Given the description of an element on the screen output the (x, y) to click on. 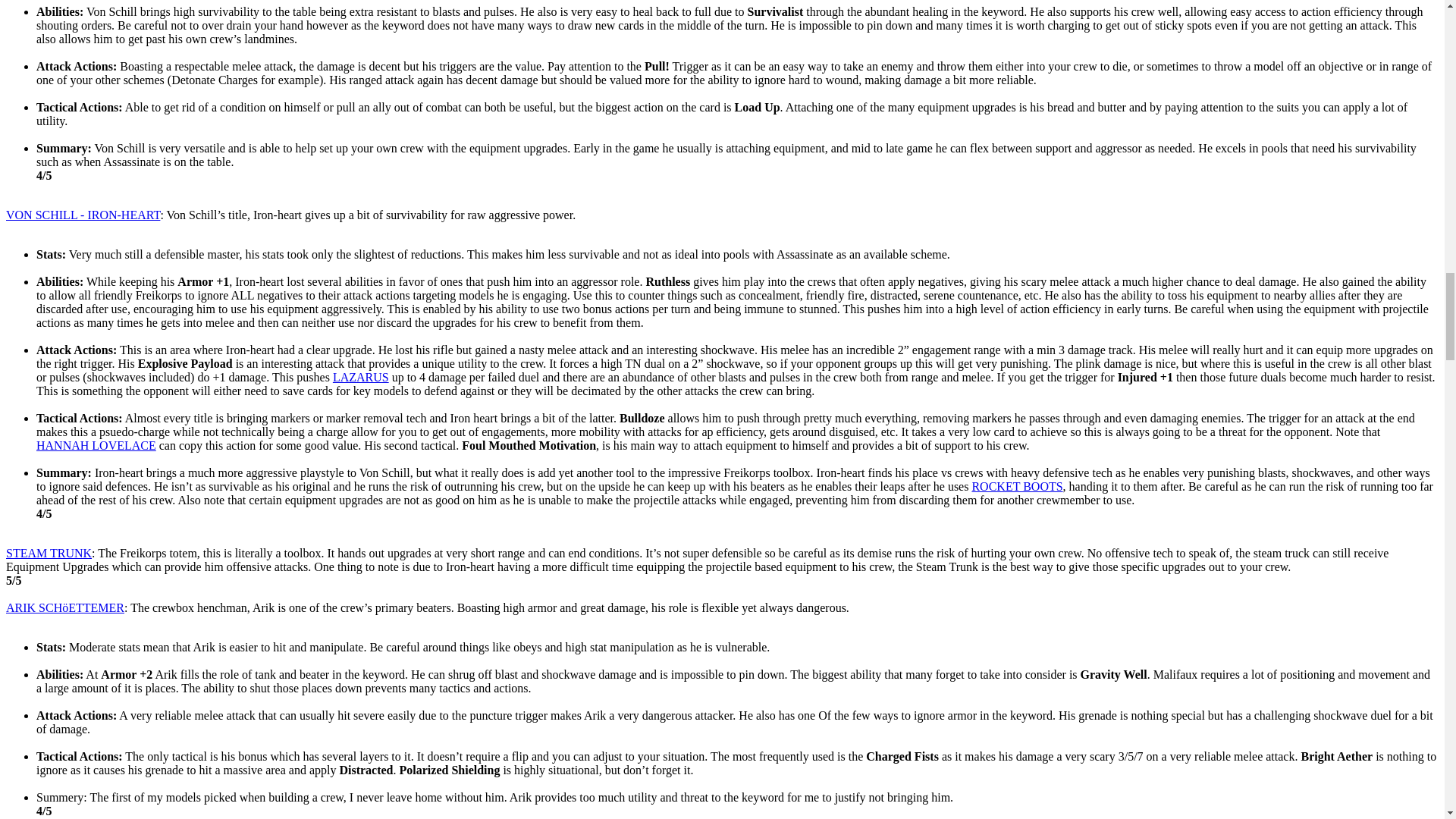
VON SCHILL - IRON-HEART (82, 214)
ROCKET BOOTS (1016, 486)
LAZARUS (360, 377)
STEAM TRUNK (48, 553)
HANNAH LOVELACE (95, 445)
